Given the description of an element on the screen output the (x, y) to click on. 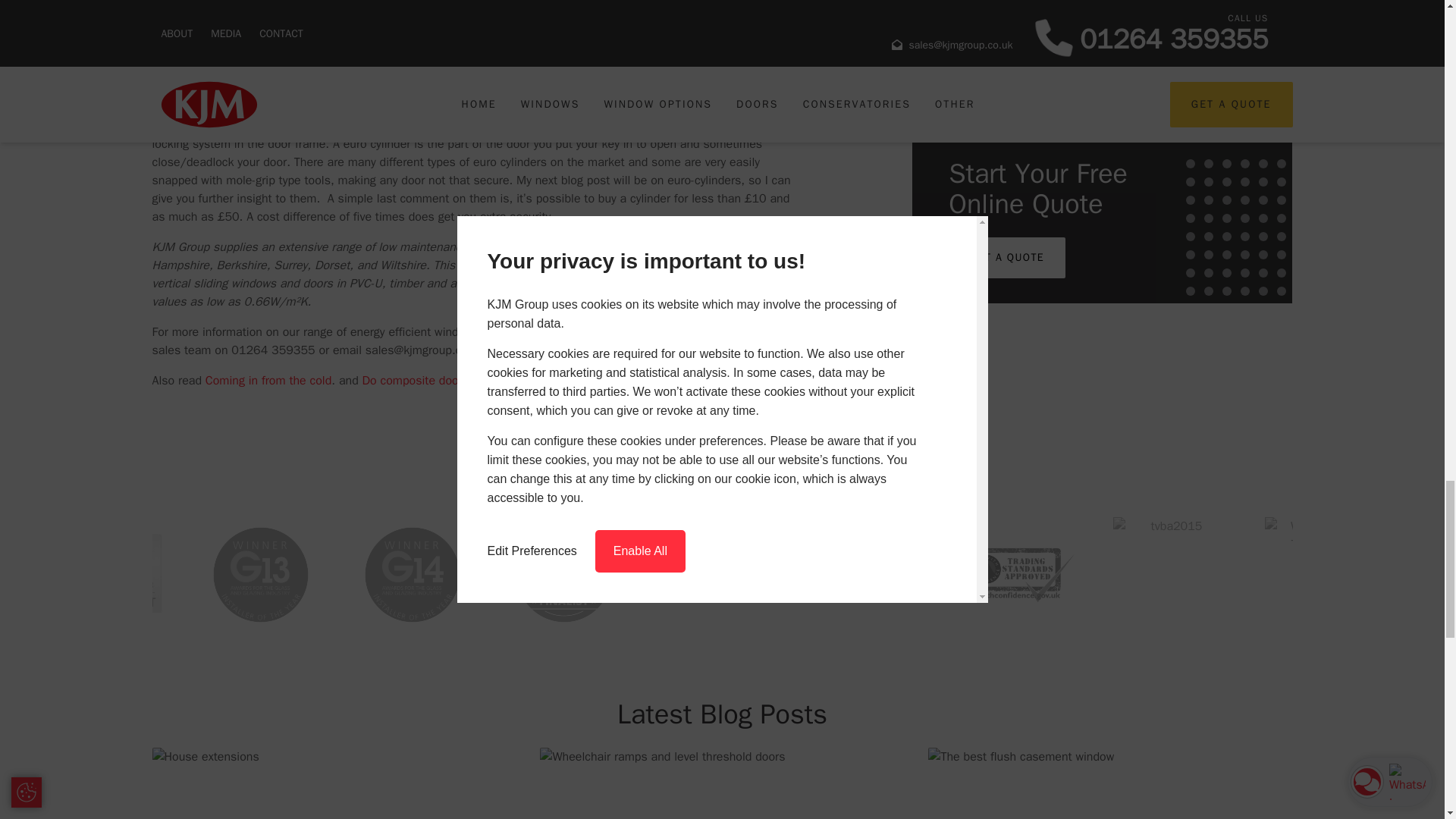
Secured by Design (467, 86)
Solidor composite doors (321, 1)
